Given the description of an element on the screen output the (x, y) to click on. 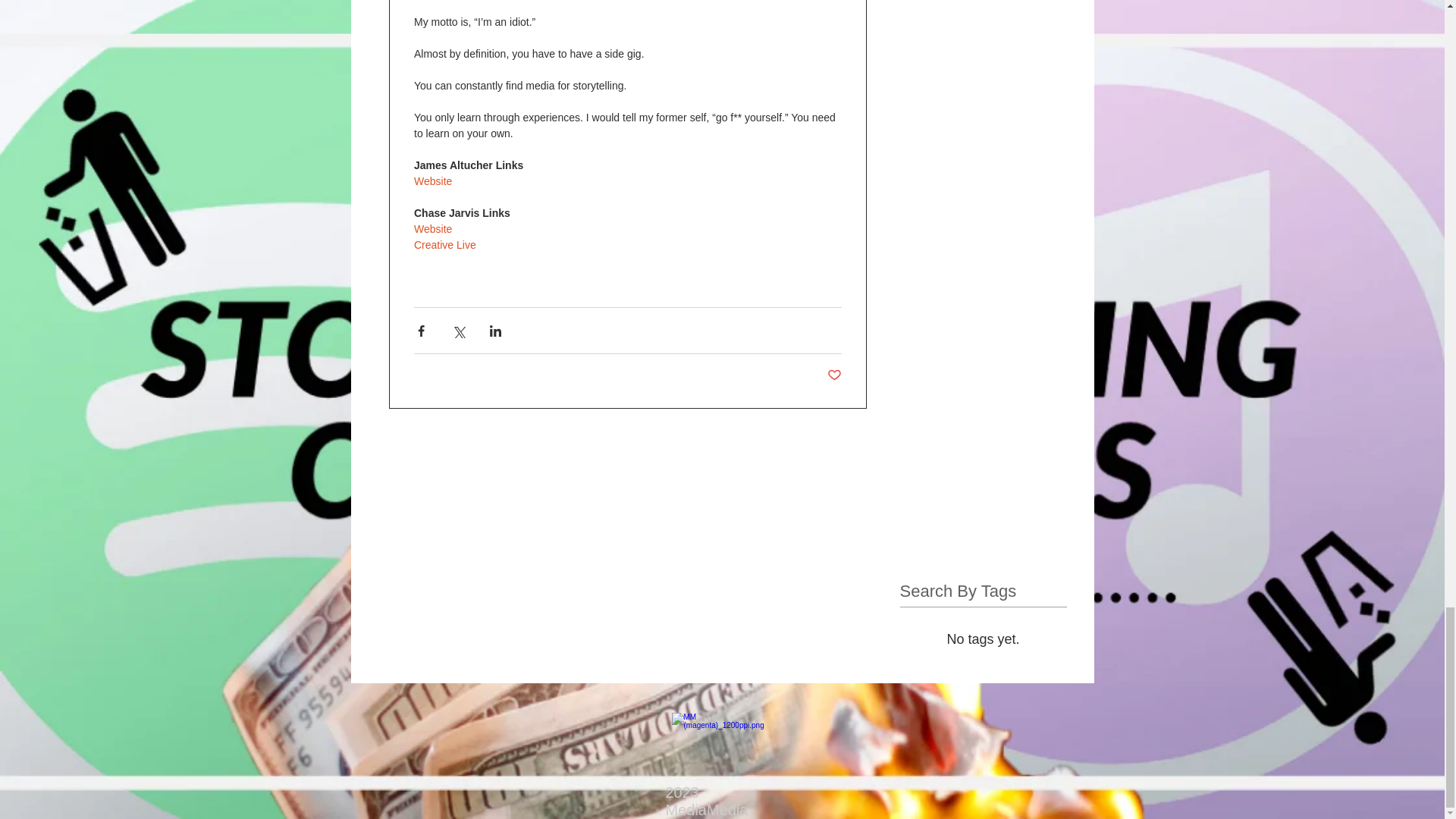
Creative Live (444, 244)
Post not marked as liked (834, 375)
Website (432, 228)
Website (432, 181)
